Given the description of an element on the screen output the (x, y) to click on. 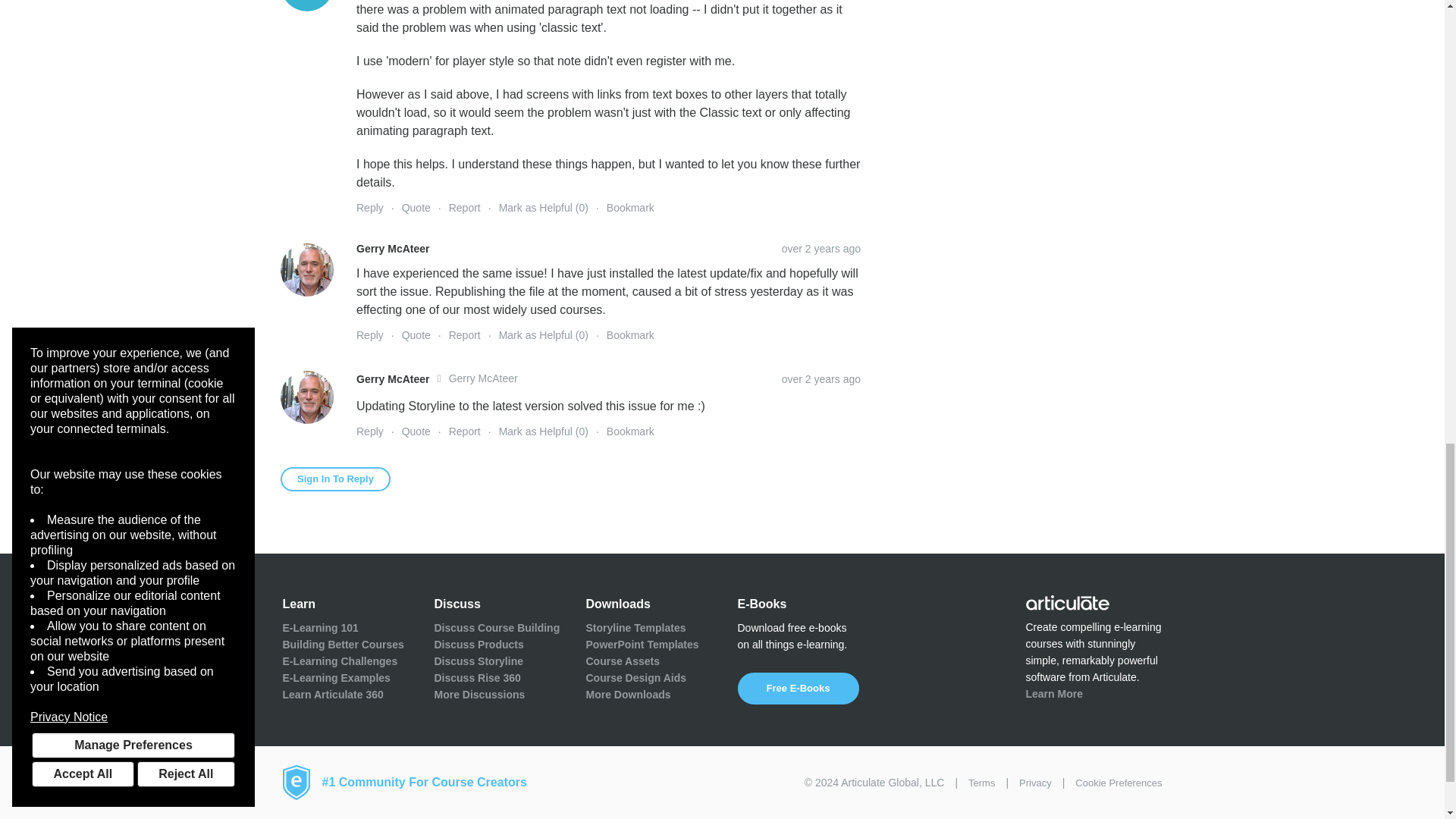
Copy URL to Clipboard (820, 378)
Copy URL to Clipboard (820, 248)
Gerry McAteer (307, 397)
Gerry McAteer (307, 269)
Charles Radanovich (307, 5)
